Given the description of an element on the screen output the (x, y) to click on. 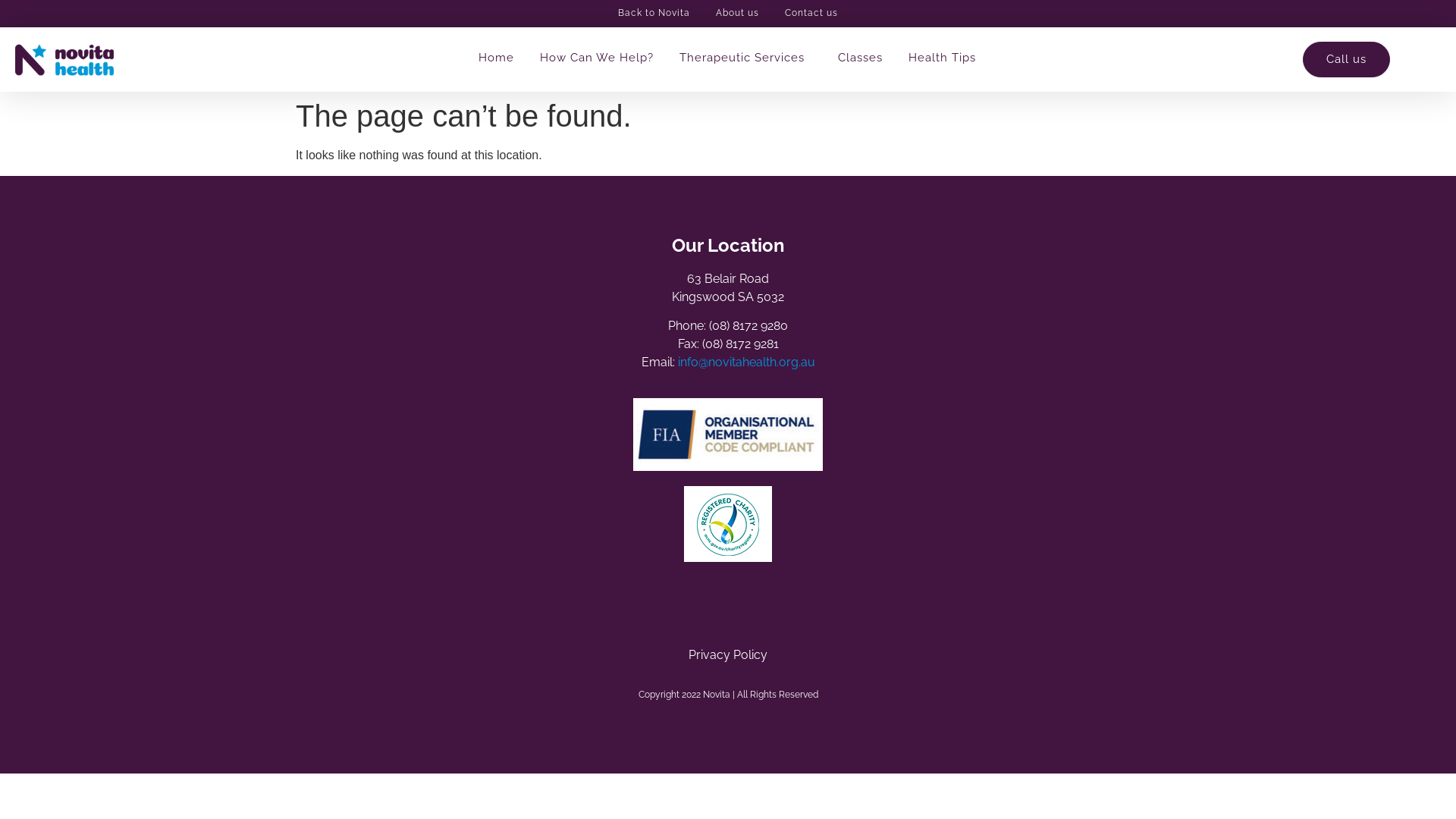
Home Element type: text (496, 58)
Classes Element type: text (860, 58)
Health Tips Element type: text (941, 58)
About us Element type: text (736, 13)
info@novitahealth.org.au Element type: text (746, 361)
Back to Novita Element type: text (653, 13)
Call us Element type: text (1346, 59)
FIA-OM_logo_Organizational_Member Element type: hover (727, 434)
Contact us Element type: text (810, 13)
Therapeutic Services Element type: text (745, 58)
How Can We Help? Element type: text (596, 58)
Privacy Policy Element type: text (727, 654)
ACNC_logo Element type: hover (727, 523)
